Given the description of an element on the screen output the (x, y) to click on. 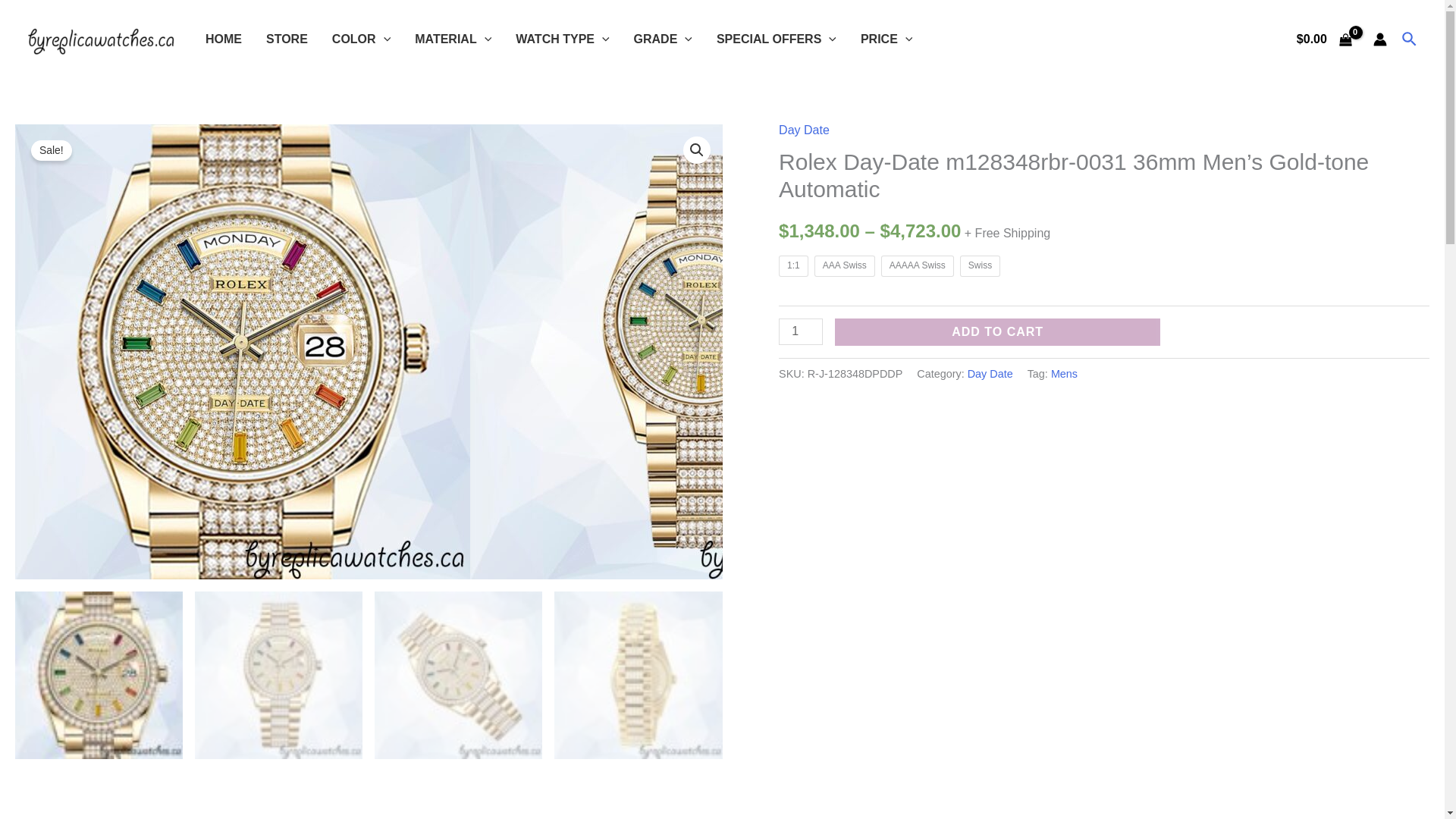
COLOR (361, 39)
WATCH TYPE (562, 39)
1 (800, 331)
STORE (286, 39)
MATERIAL (453, 39)
HOME (223, 39)
